Given the description of an element on the screen output the (x, y) to click on. 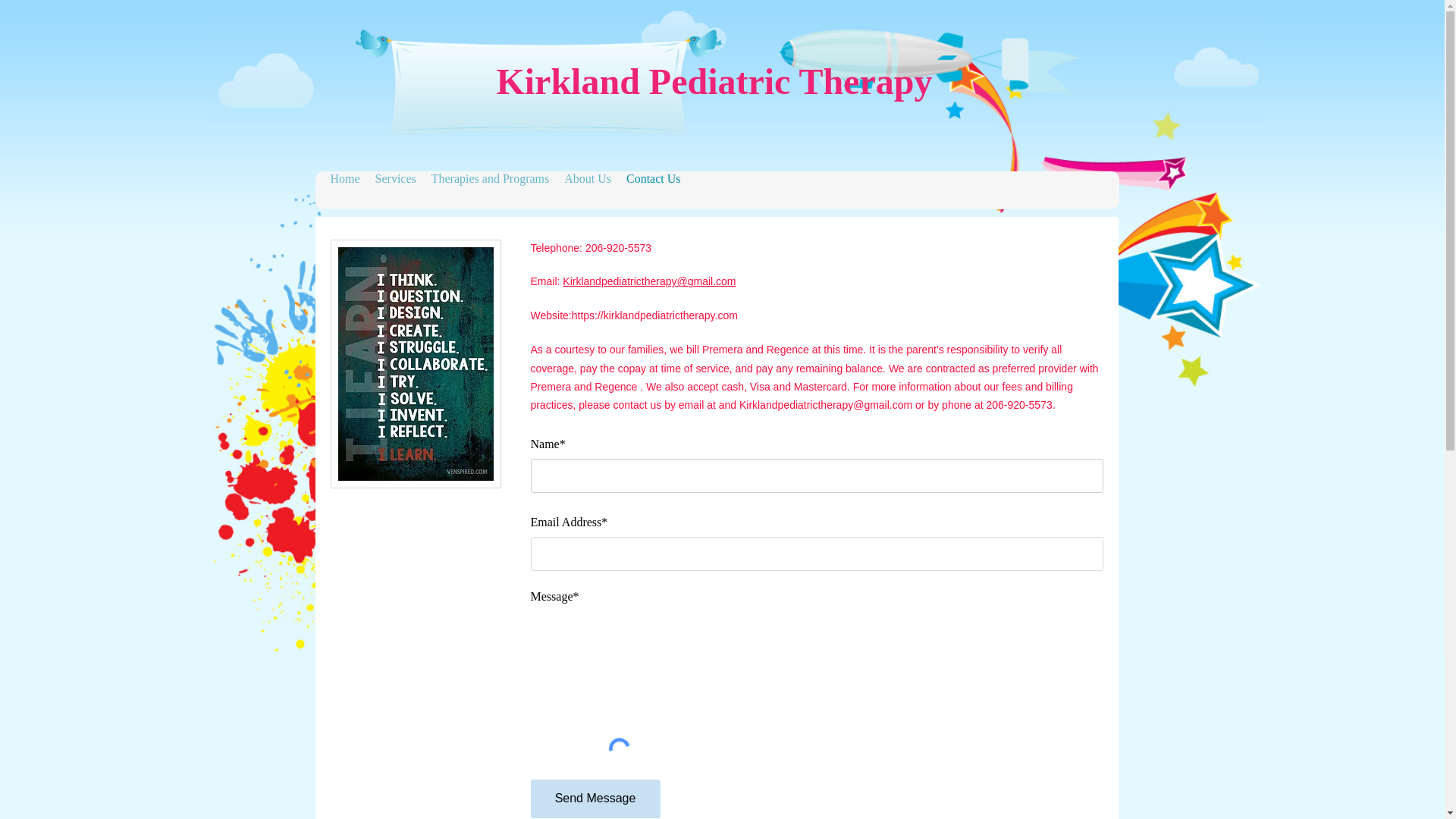
Therapies and Programs (489, 178)
Send Message (596, 798)
About Us (587, 178)
Contact Us (653, 178)
Services (395, 178)
Home (345, 178)
